Given the description of an element on the screen output the (x, y) to click on. 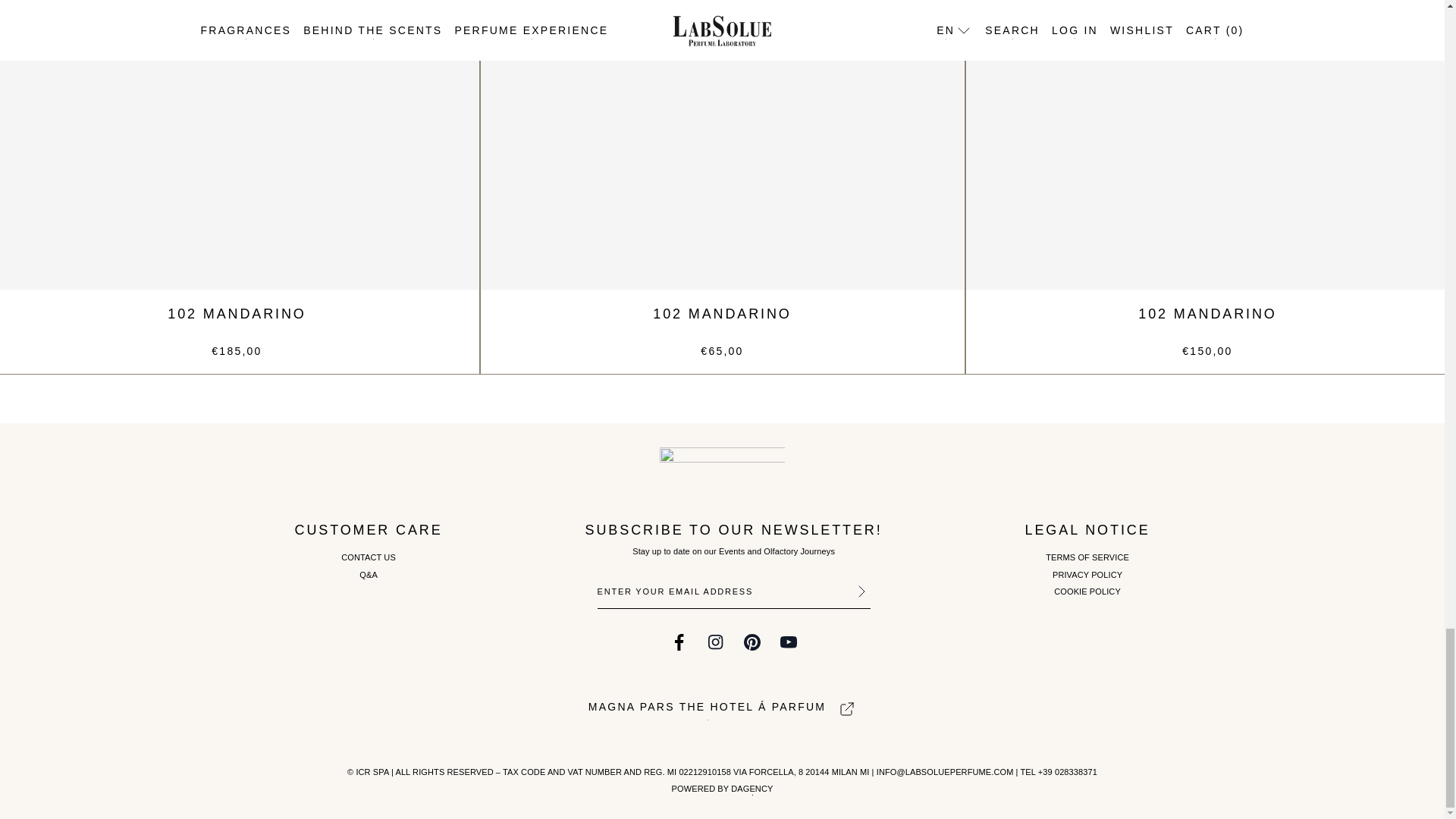
LabSolue on pinterest (751, 642)
LabSolue on instagram (715, 642)
LabSolue on facebook (678, 642)
LabSolue on youtube (787, 642)
